Given the description of an element on the screen output the (x, y) to click on. 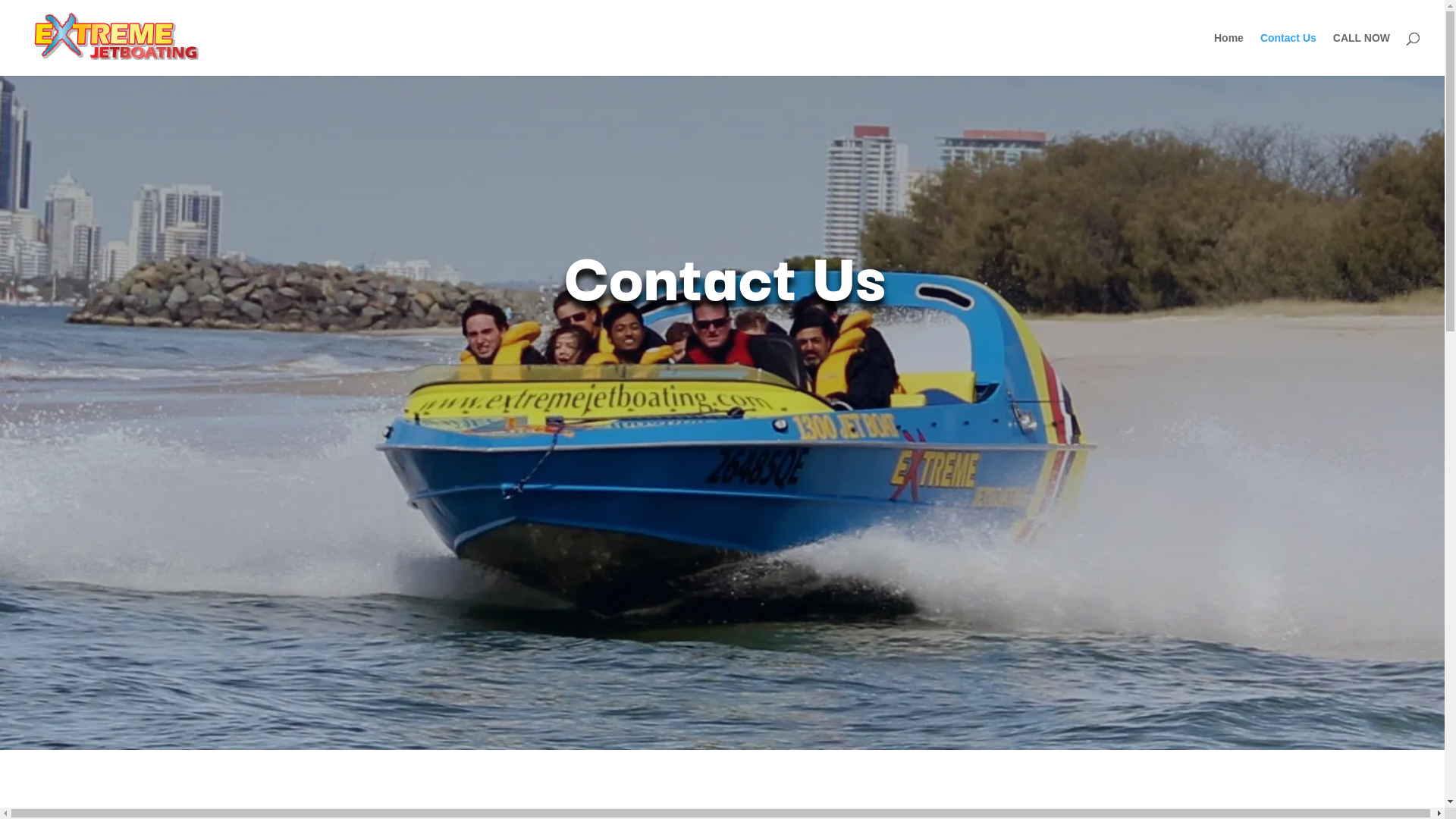
CALL NOW Element type: text (1361, 53)
Contact Us Element type: text (1288, 53)
Home Element type: text (1228, 53)
